Given the description of an element on the screen output the (x, y) to click on. 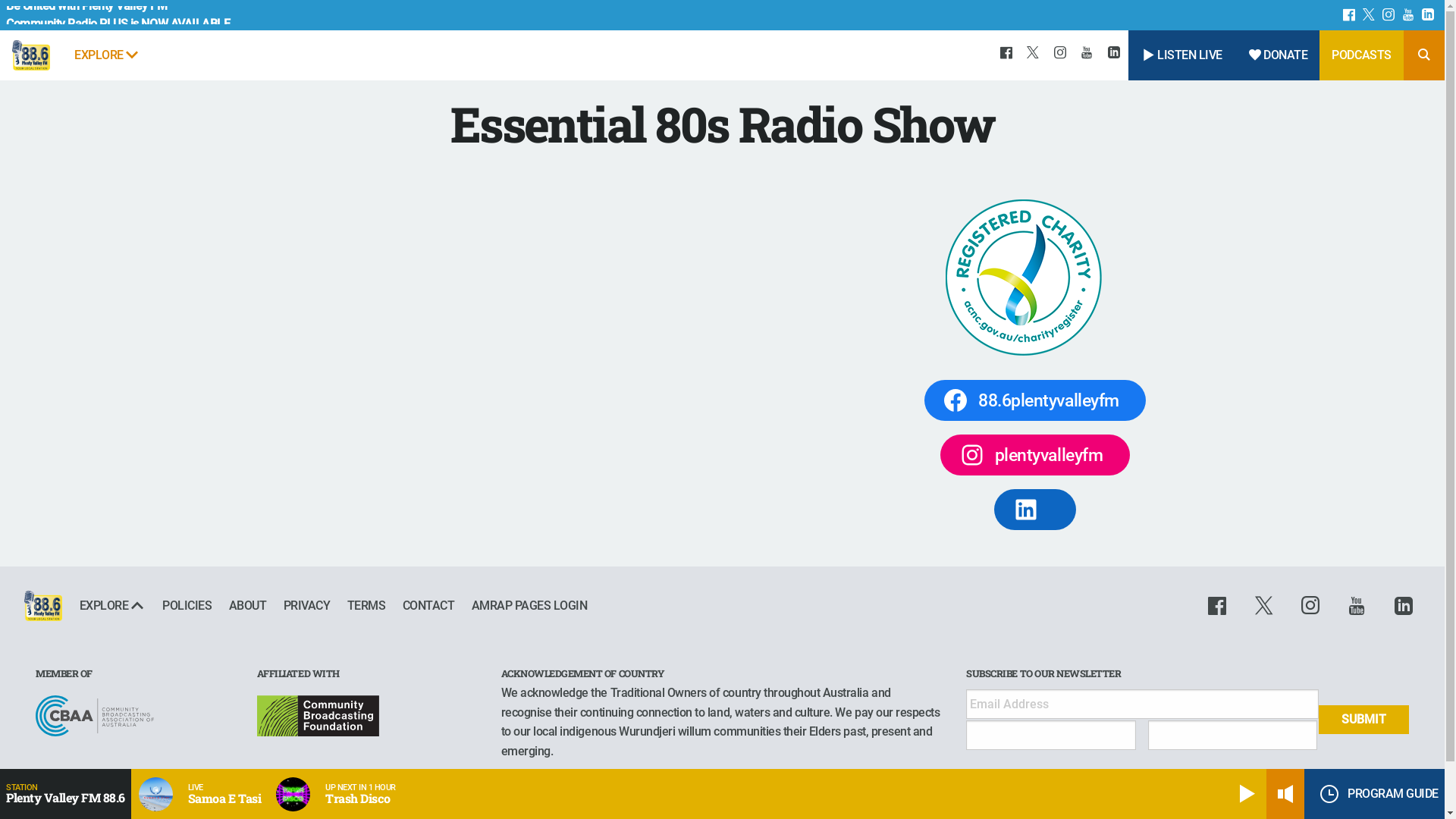
ABOUT Element type: text (246, 605)
  Element type: text (1369, 14)
PRIVACY Element type: text (306, 605)
  Element type: text (1389, 14)
EXPLORE Element type: text (111, 605)
Community Radio PLUS is NOW AVAILABLE Element type: text (122, 33)
  Element type: text (1006, 55)
  Element type: text (1428, 14)
AMRAP PAGES LOGIN Element type: text (524, 605)
  Element type: text (1358, 605)
  Element type: text (1060, 55)
88.6plentyvalleyfm Element type: text (1034, 399)
  Element type: text (1265, 605)
  Element type: text (1408, 14)
  Element type: text (1349, 14)
  Element type: text (1034, 55)
  Element type: text (1114, 55)
EXPLORE Element type: text (107, 55)
plentyvalleyfm Element type: text (1034, 454)
LISTEN LIVE Element type: text (1181, 55)
  Element type: text (1312, 605)
  Element type: text (1223, 605)
PODCASTS Element type: text (1360, 55)
  Element type: text (1087, 55)
TERMS Element type: text (365, 605)
DONATE Element type: text (1277, 55)
POLICIES Element type: text (186, 605)
  Element type: text (1401, 605)
CONTACT Element type: text (427, 605)
Be United with Plenty Valley FM Element type: text (122, 15)
Submit Element type: text (1363, 719)
